Given the description of an element on the screen output the (x, y) to click on. 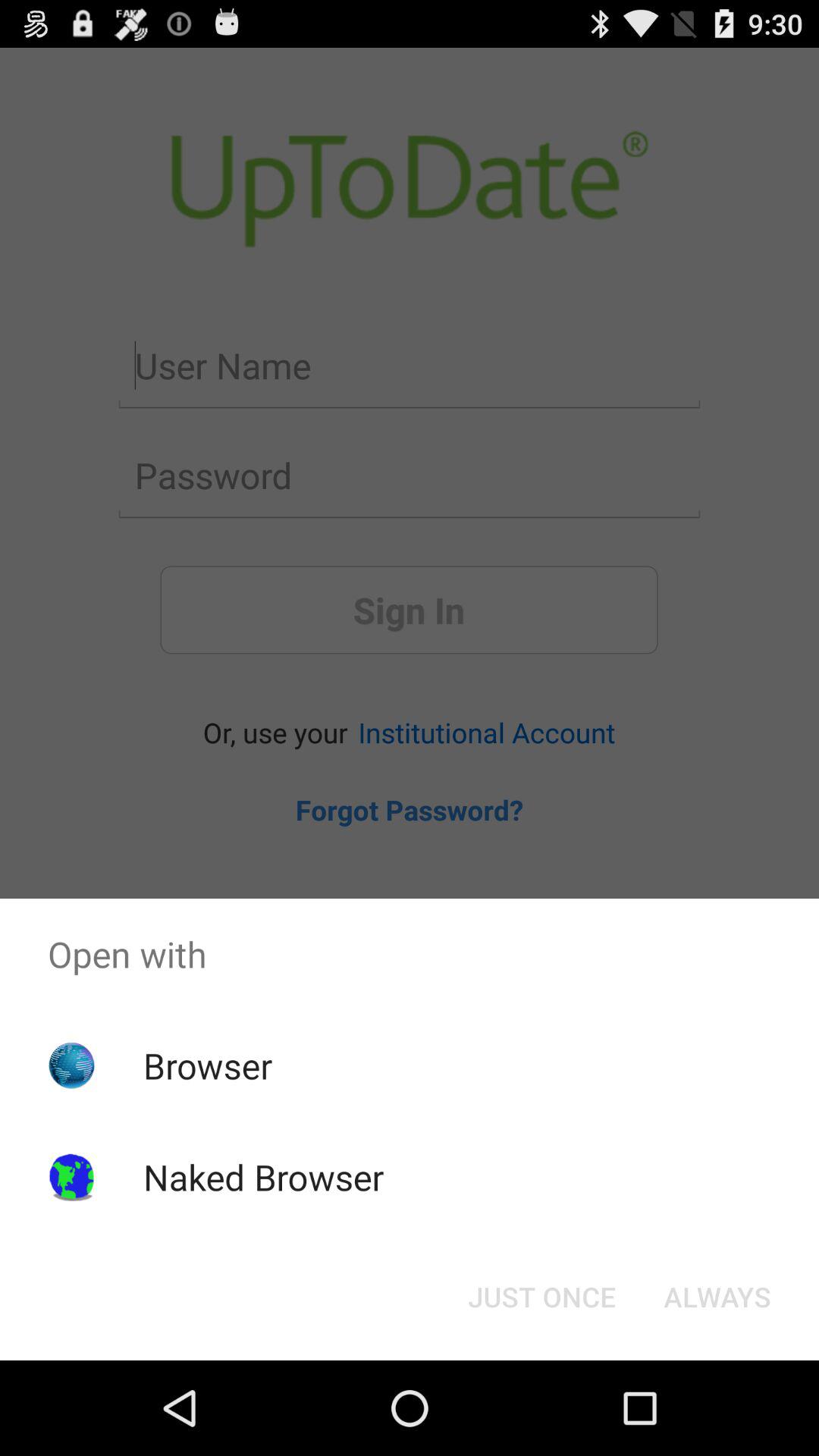
flip to just once icon (541, 1296)
